Given the description of an element on the screen output the (x, y) to click on. 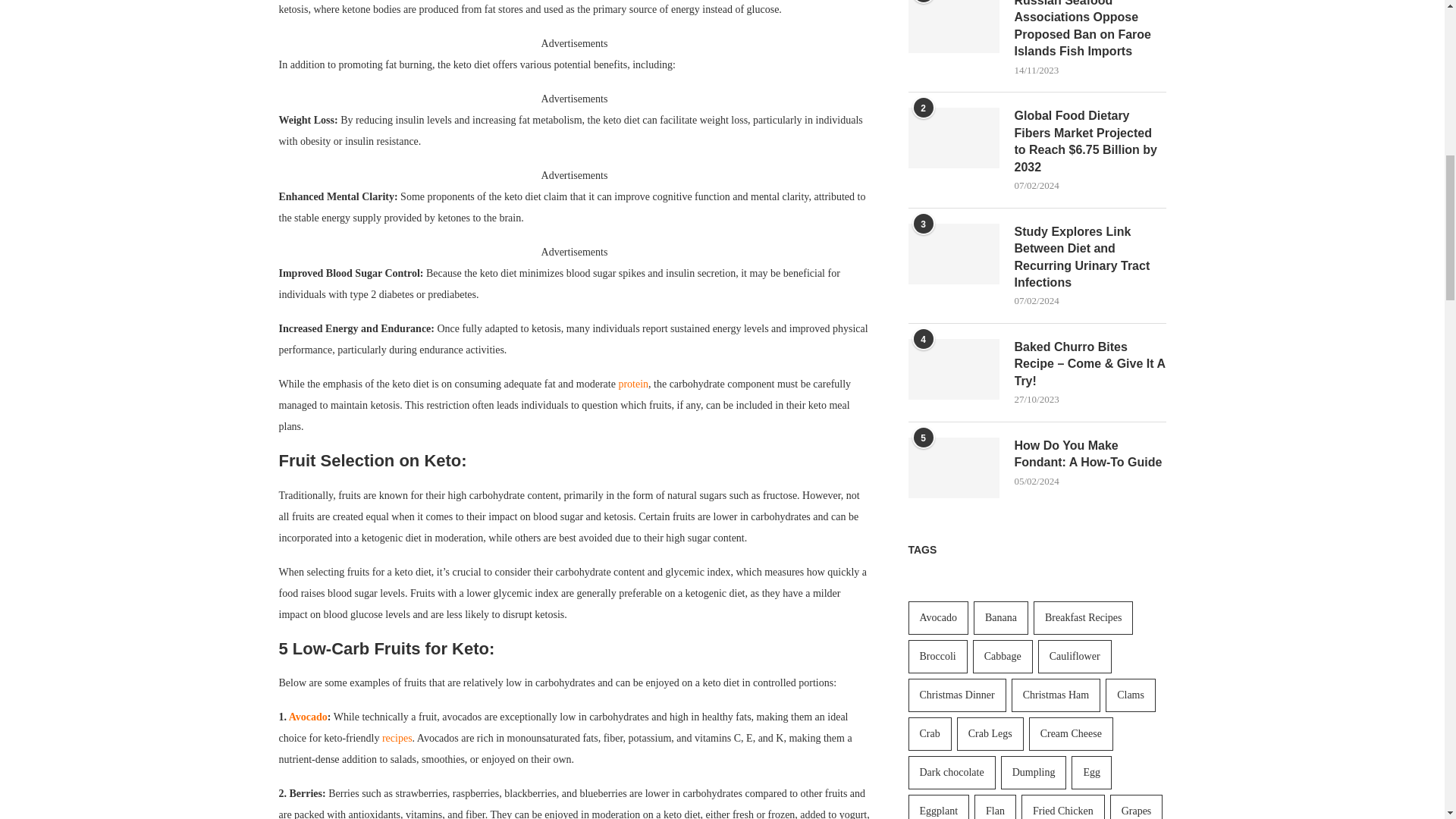
protein (632, 383)
